Given the description of an element on the screen output the (x, y) to click on. 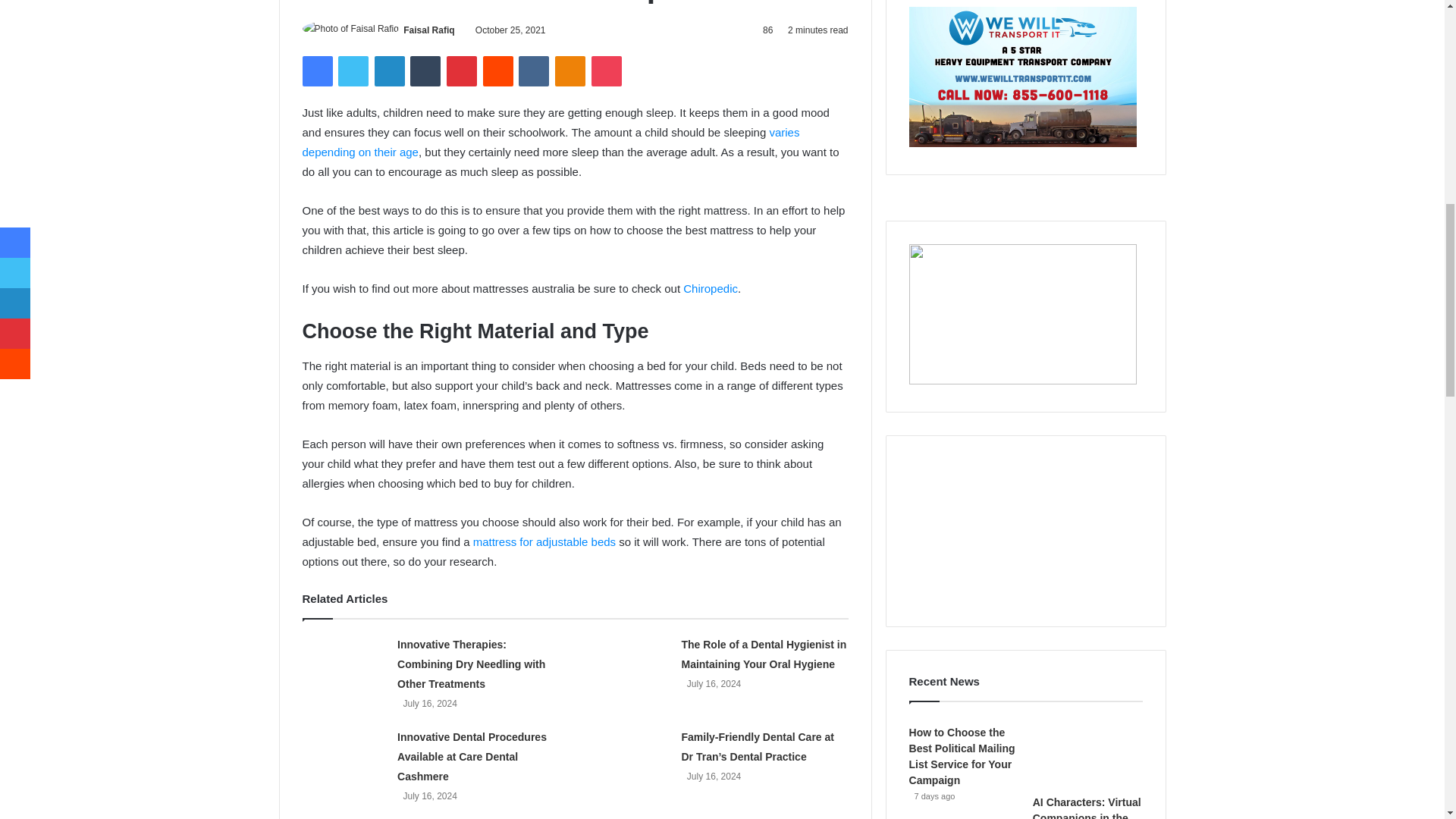
Faisal Rafiq (428, 30)
Pocket (606, 71)
Pinterest (461, 71)
Twitter (352, 71)
Faisal Rafiq (428, 30)
Twitter (352, 71)
Facebook (316, 71)
VKontakte (533, 71)
Tumblr (425, 71)
Odnoklassniki (569, 71)
